Given the description of an element on the screen output the (x, y) to click on. 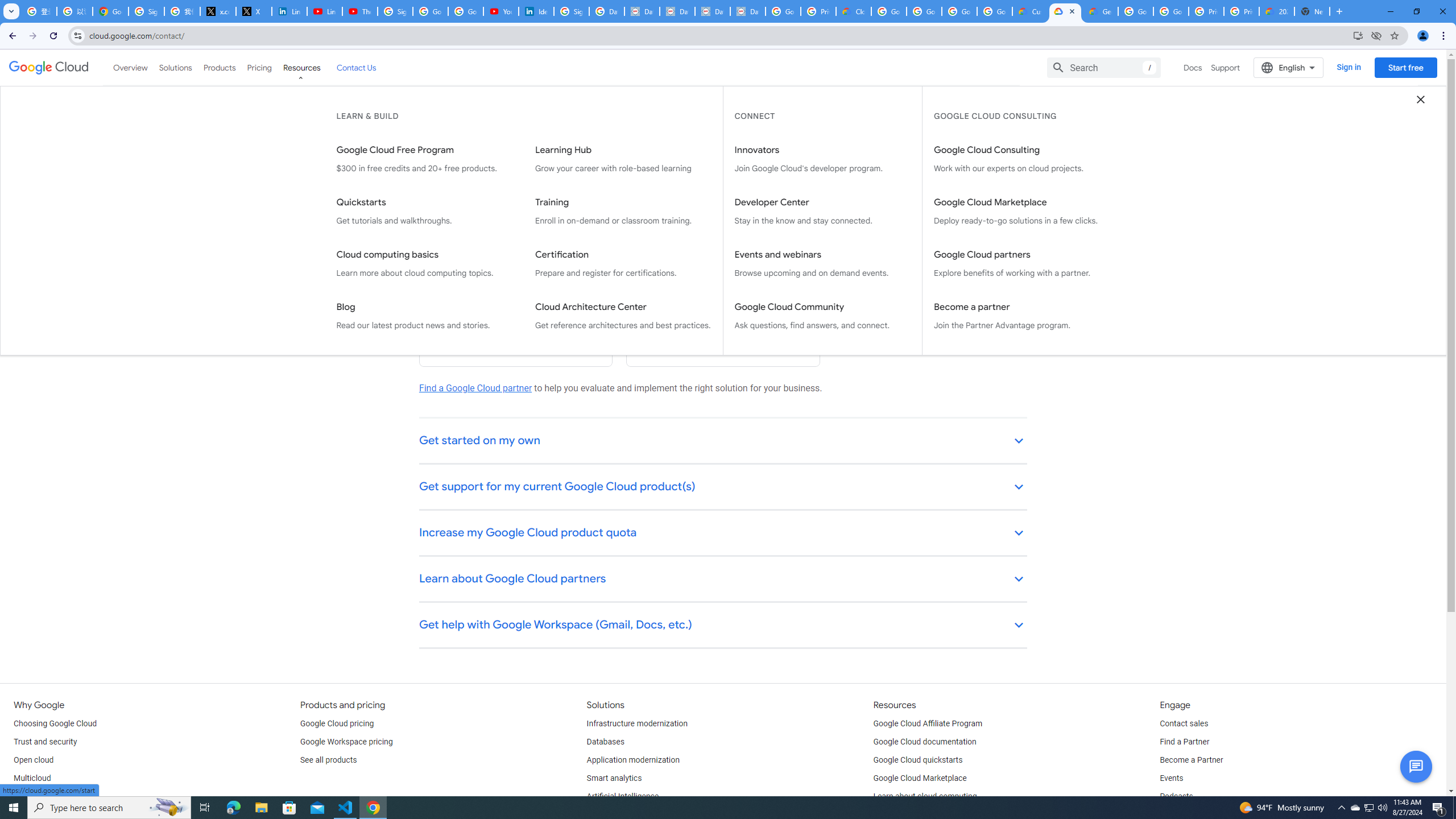
Overview (130, 67)
Data Privacy Framework (641, 11)
Learning Hub Grow your career with role-based learning (623, 159)
Podcasts (1175, 796)
Google Workspace pricing (346, 742)
Pricing (259, 67)
Choosing Google Cloud (55, 723)
Google Cloud Marketplace (919, 778)
